Given the description of an element on the screen output the (x, y) to click on. 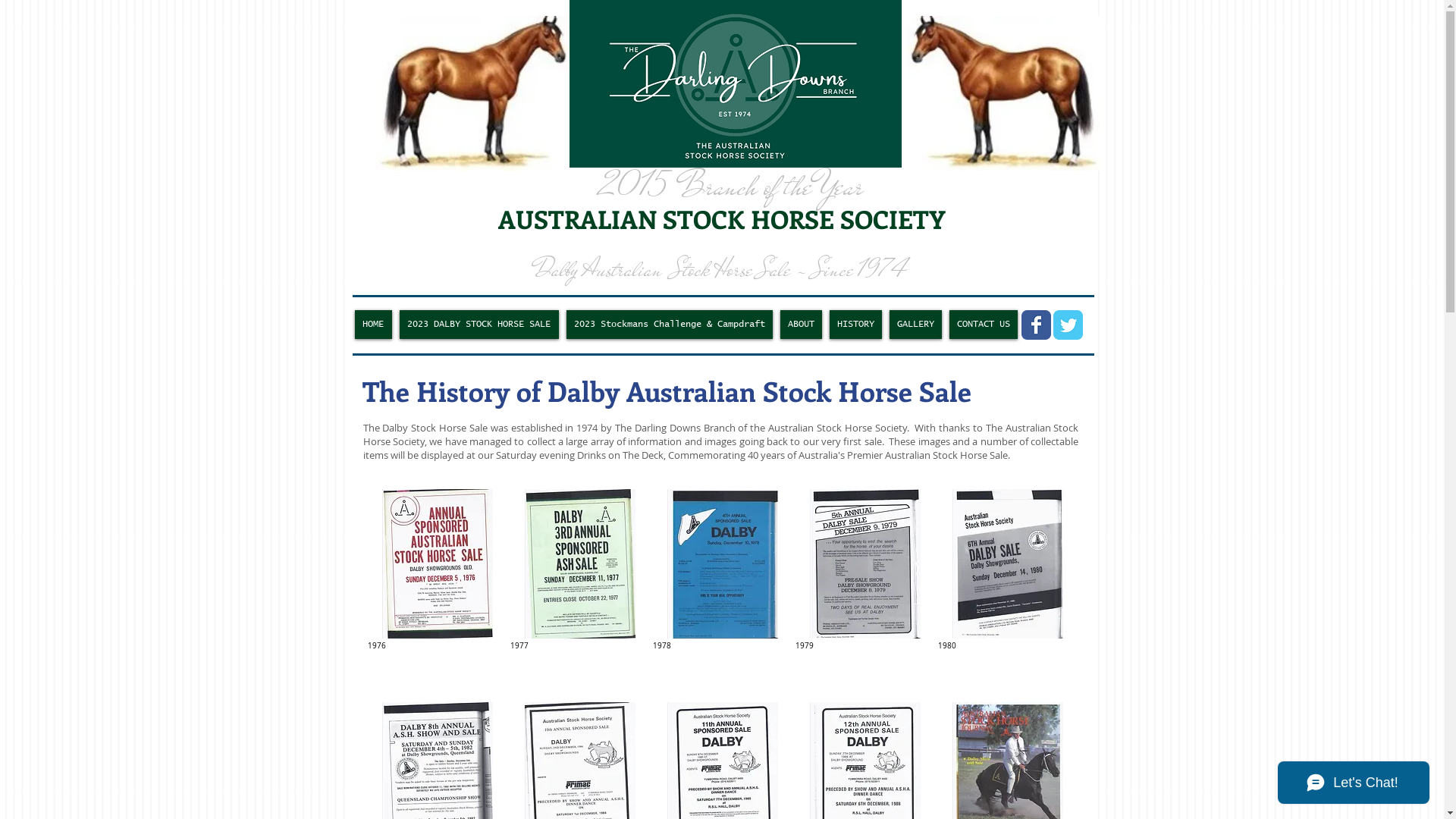
CONTACT US Element type: text (983, 324)
standard of excellence and logo.jpg Element type: hover (1003, 92)
Green Logo1.png Element type: hover (734, 83)
standard of excellence and logo.jpg Element type: hover (471, 92)
GALLERY Element type: text (914, 324)
2023 Stockmans Challenge & Campdraft Element type: text (668, 324)
HISTORY Element type: text (855, 324)
2023 DALBY STOCK HORSE SALE Element type: text (478, 324)
ABOUT Element type: text (800, 324)
HOME Element type: text (373, 324)
